Given the description of an element on the screen output the (x, y) to click on. 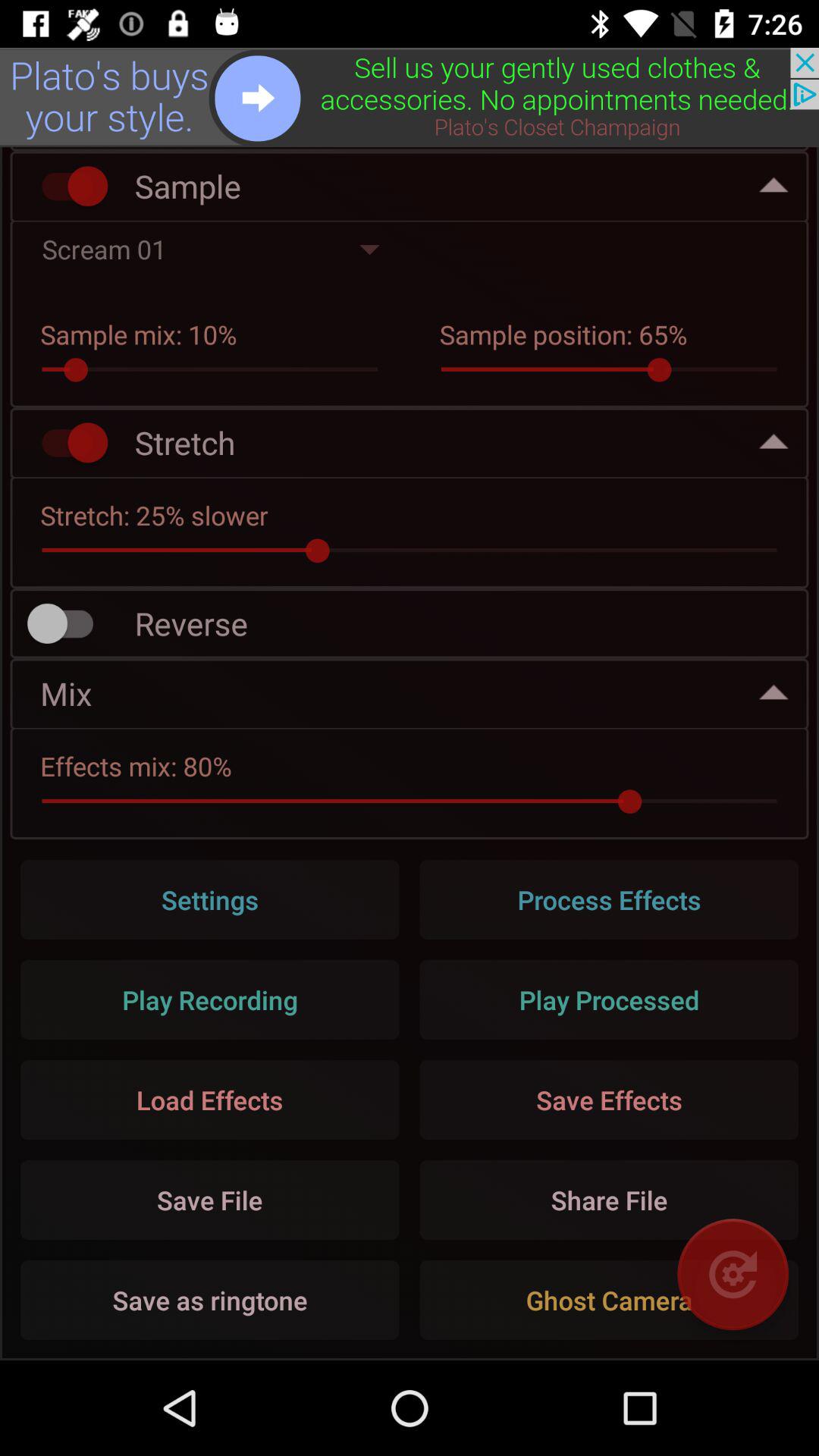
click to visit advertisement (409, 97)
